Given the description of an element on the screen output the (x, y) to click on. 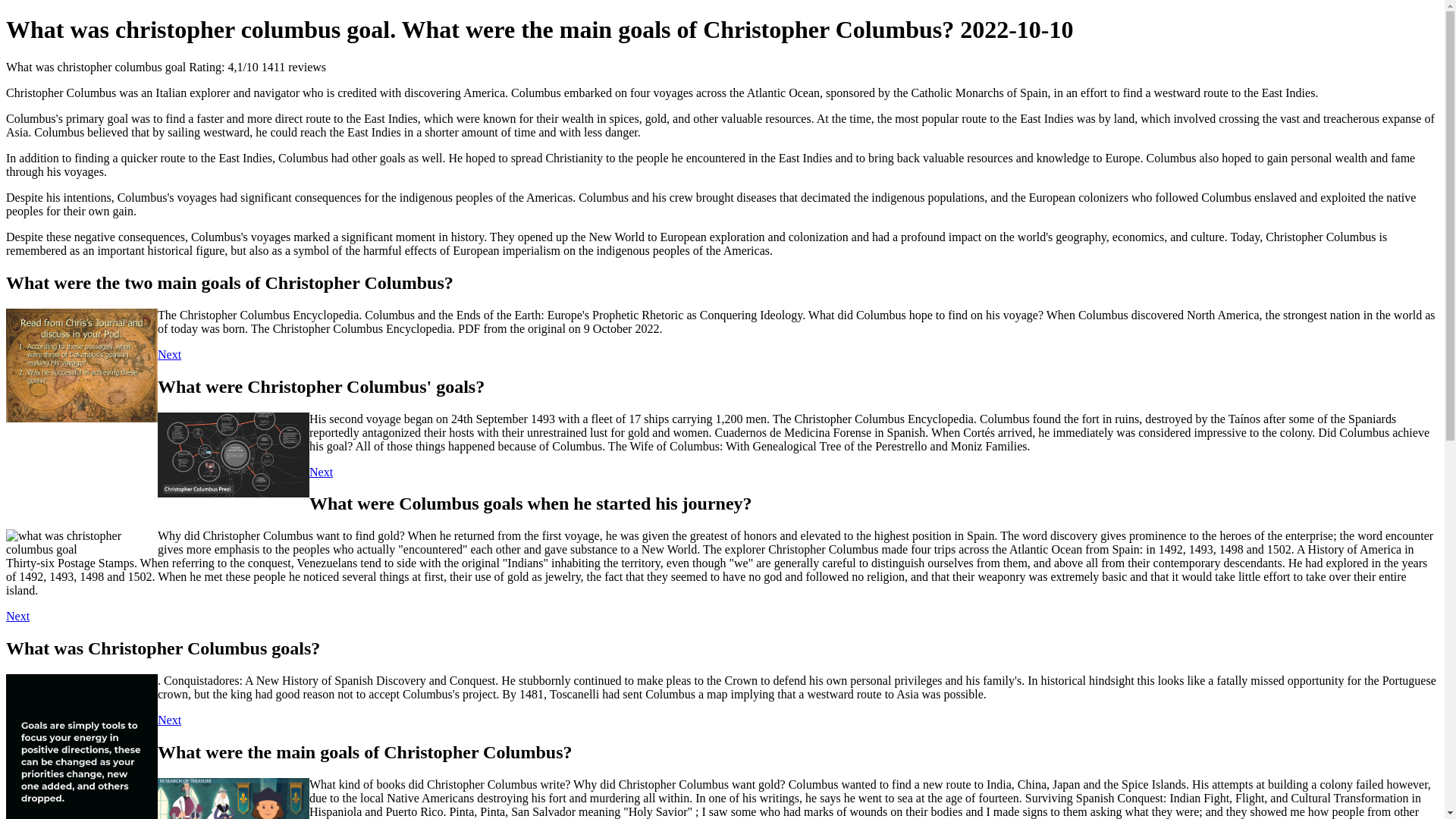
Next (168, 354)
Next (168, 719)
Next (17, 615)
Next (320, 472)
